Given the description of an element on the screen output the (x, y) to click on. 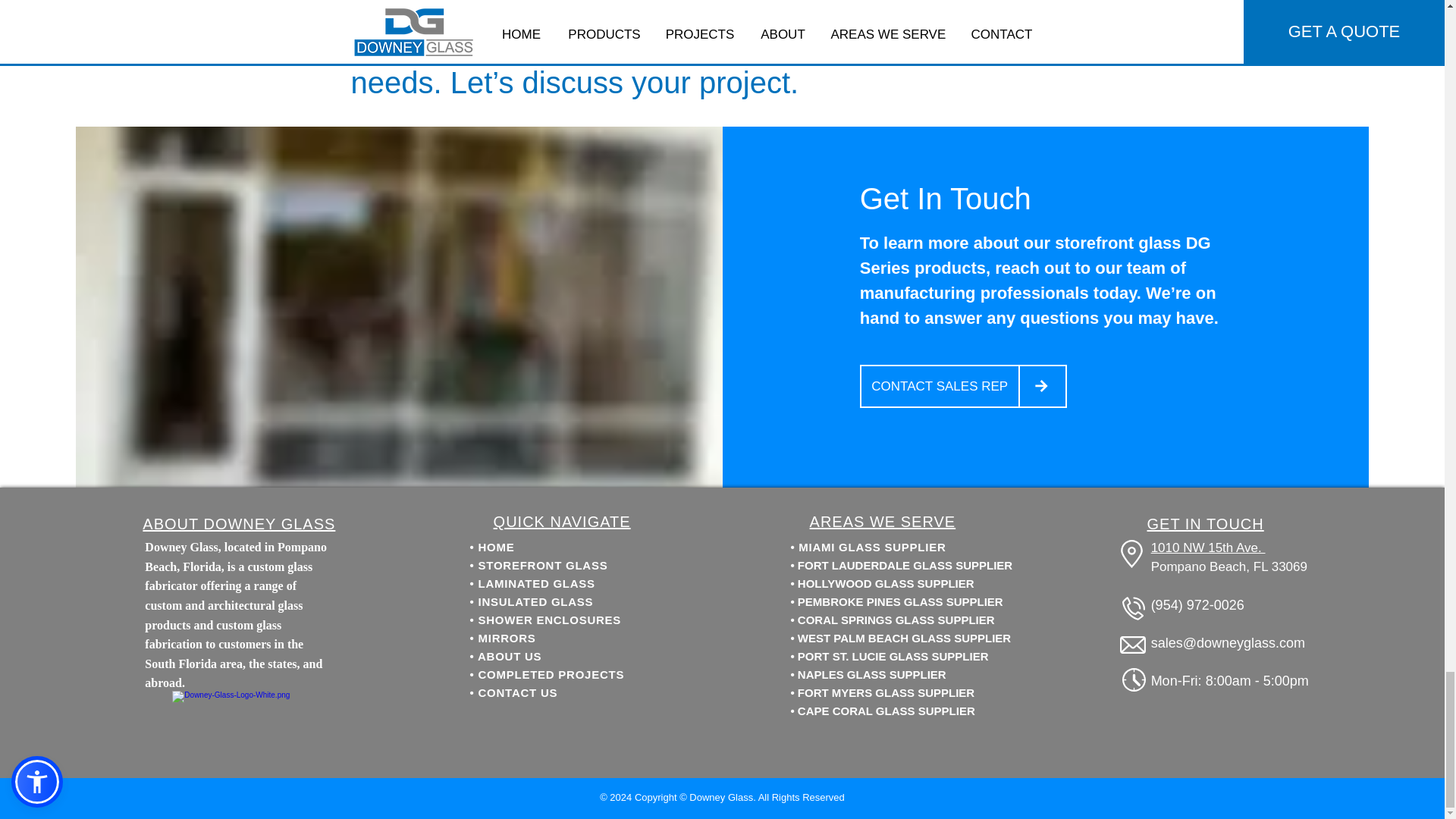
CONTACT SALES REP (940, 385)
INSULATED GLASS (536, 601)
LAMINATED GLASS (537, 583)
STOREFRONT GLASS (543, 564)
SHOWER ENCLOSURES (550, 619)
MIRRORS (507, 637)
CONTACT US (518, 692)
